Given the description of an element on the screen output the (x, y) to click on. 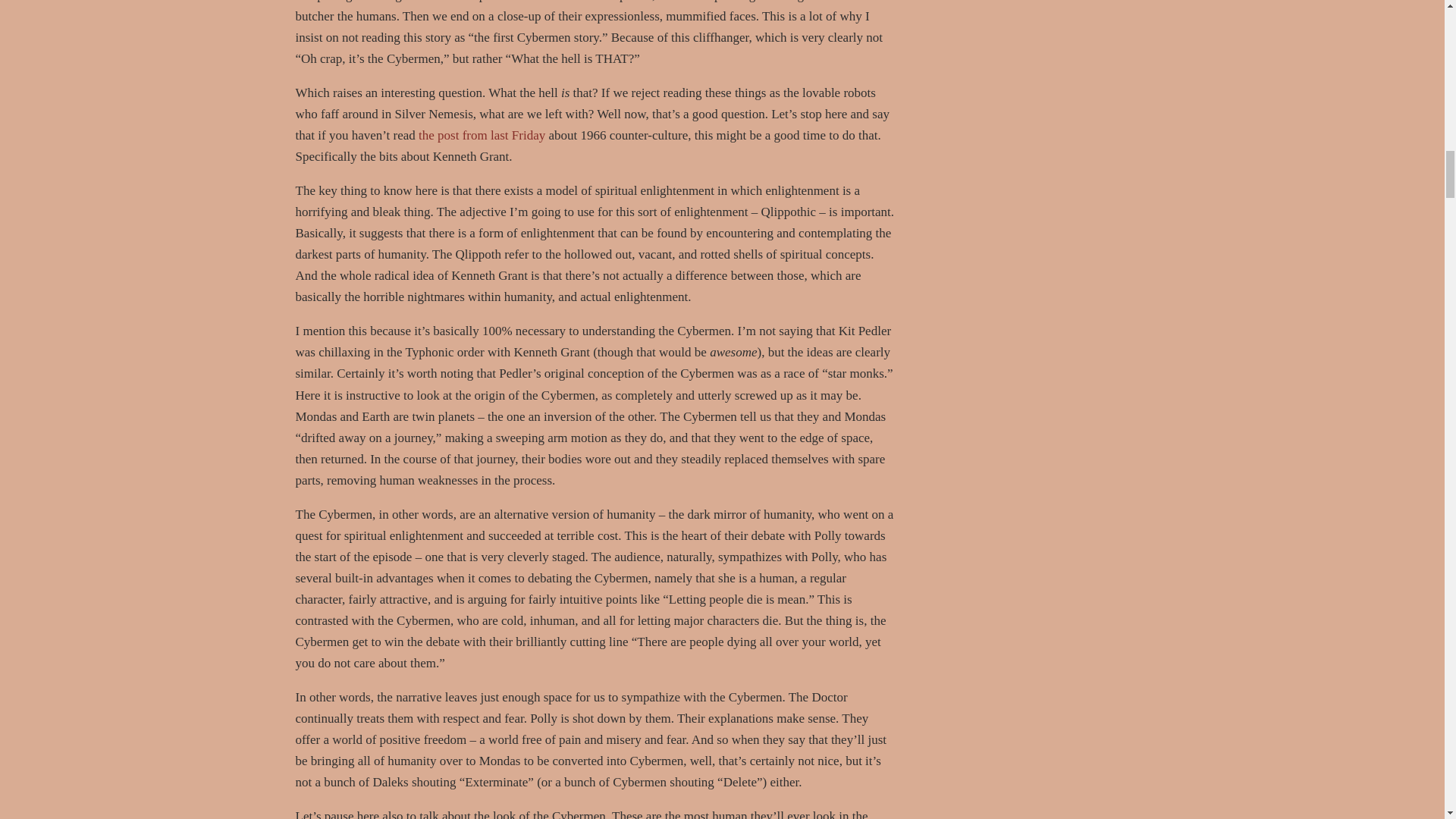
the post from last Friday (481, 134)
